Given the description of an element on the screen output the (x, y) to click on. 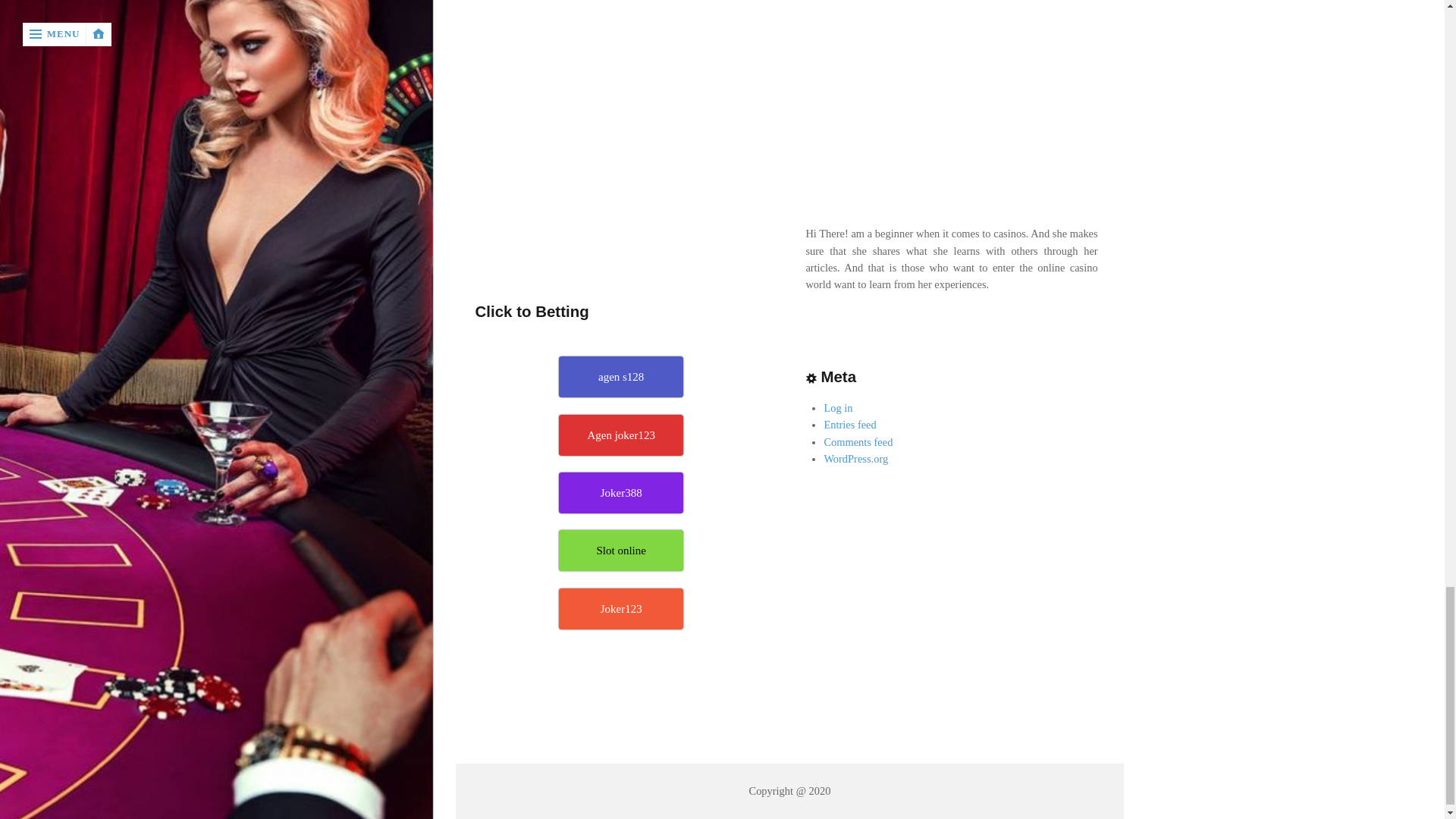
Joker388 (620, 492)
Entries feed (850, 424)
Agen joker123 (620, 434)
Comments feed (858, 441)
Joker123 (620, 608)
Log in (837, 408)
WordPress.org (856, 458)
Slot online (620, 549)
agen s128 (620, 376)
